Given the description of an element on the screen output the (x, y) to click on. 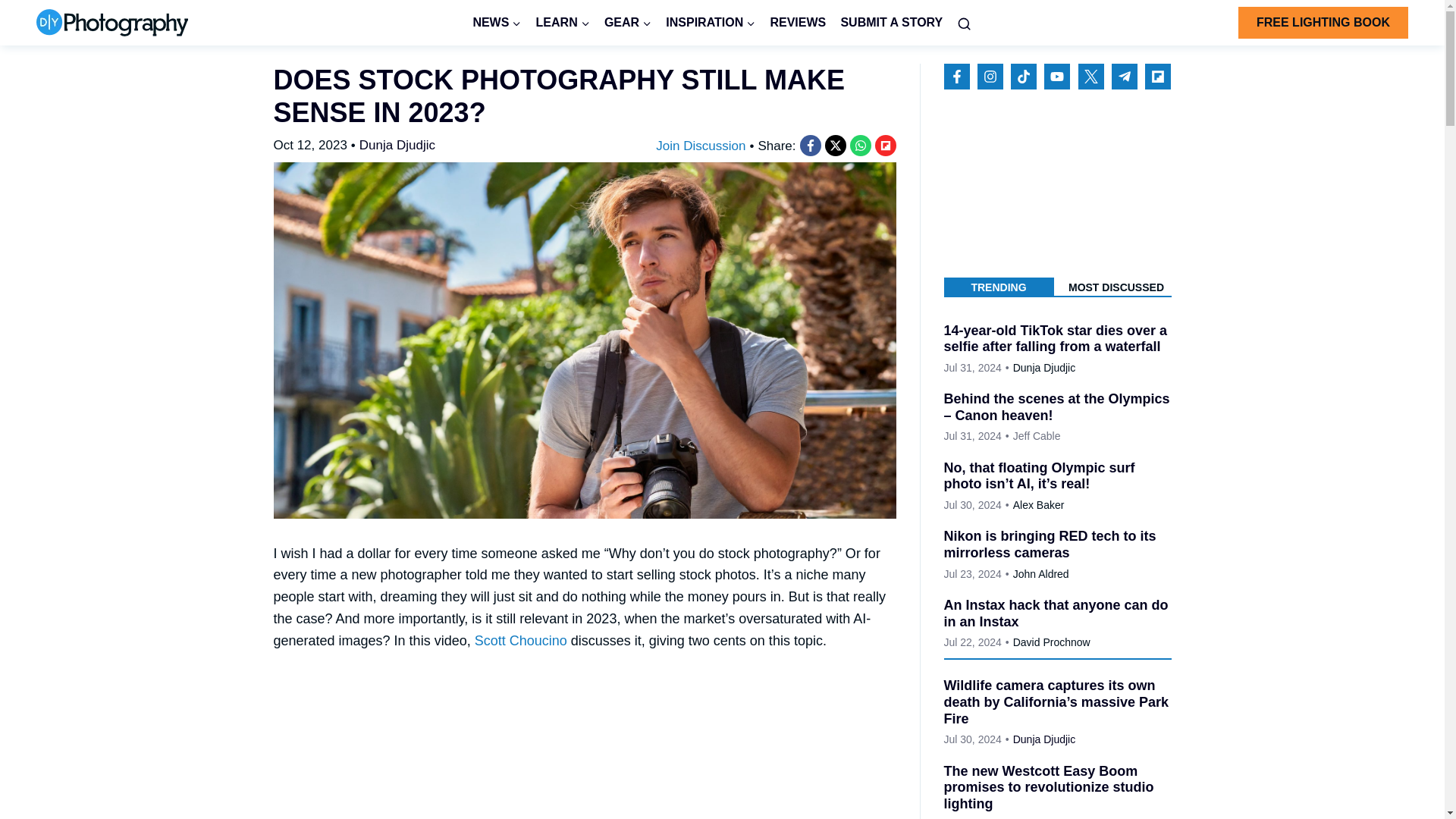
NEWS (496, 22)
